Given the description of an element on the screen output the (x, y) to click on. 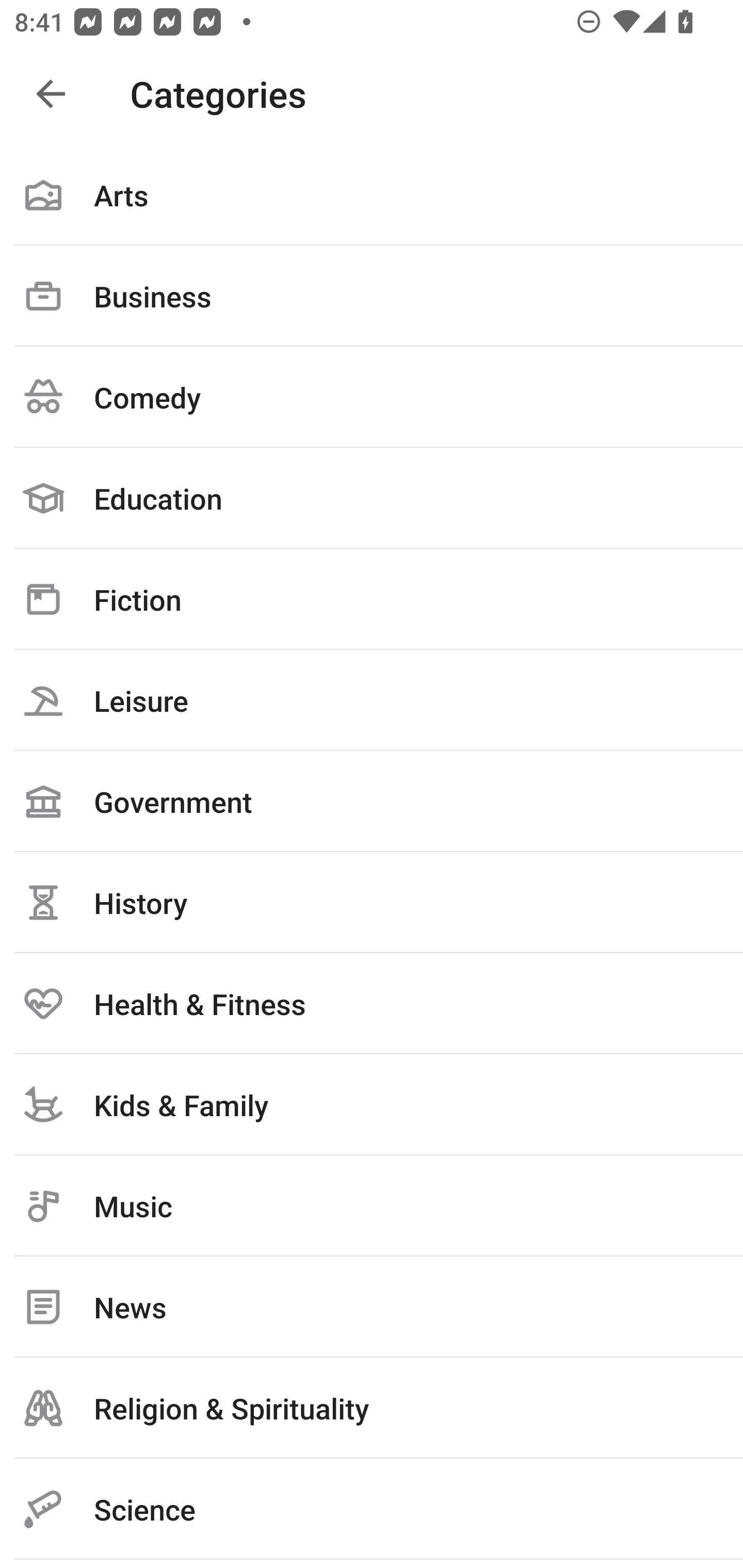
Navigate up (50, 93)
Arts (371, 195)
Business (371, 296)
Comedy (371, 397)
Education (371, 498)
Fiction (371, 598)
Leisure (371, 700)
Government (371, 801)
History (371, 902)
Health & Fitness (371, 1003)
Kids & Family (371, 1104)
Music (371, 1205)
News (371, 1306)
Religion & Spirituality (371, 1407)
Science (371, 1509)
